Given the description of an element on the screen output the (x, y) to click on. 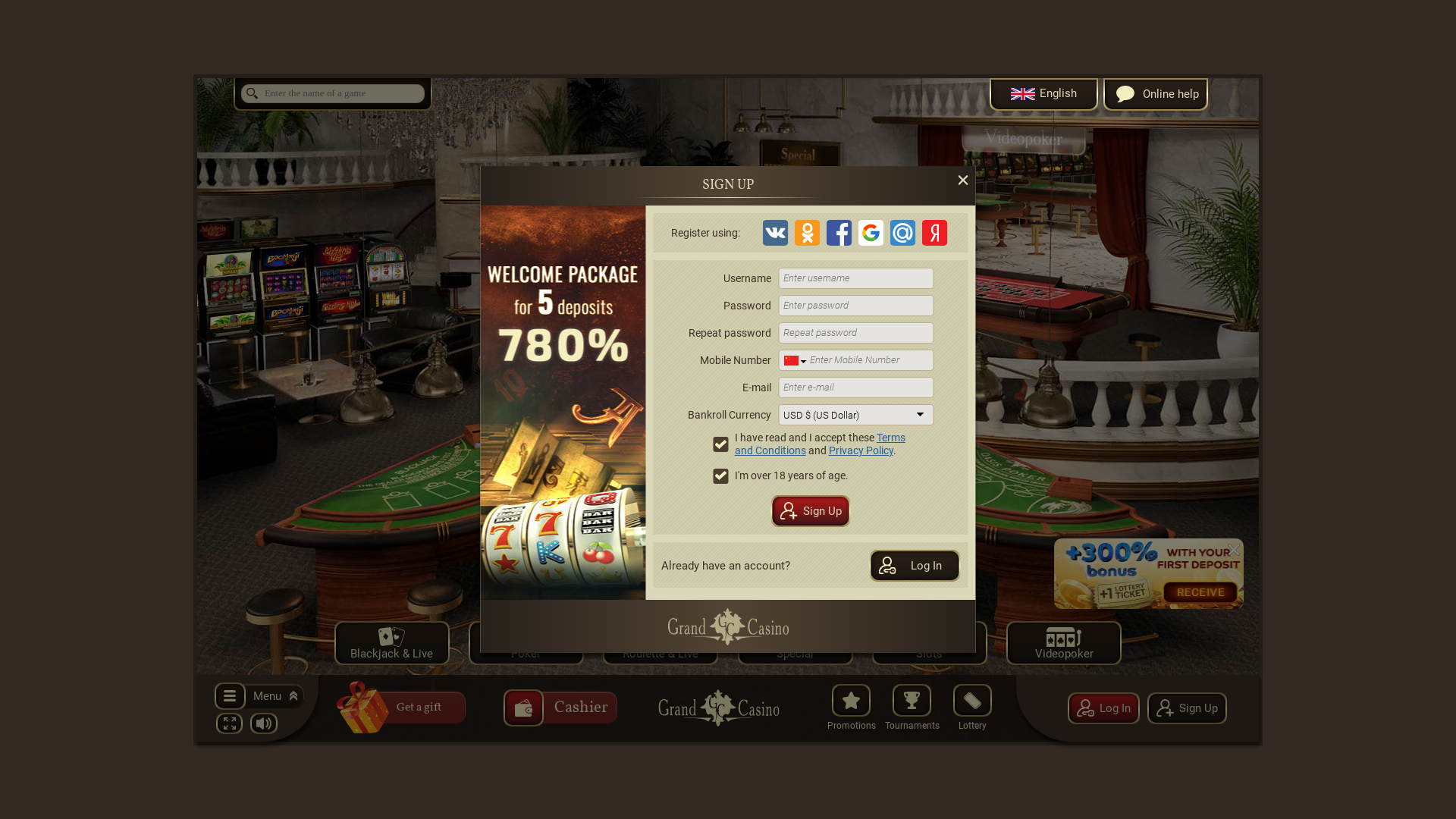
Online help Element type: text (1155, 93)
Special Element type: text (795, 642)
Blackjack & Live Element type: text (391, 642)
Slots Element type: text (929, 642)
Sign Up Element type: text (810, 511)
Sign Up Element type: text (1186, 707)
Log In Element type: text (914, 565)
Terms and Conditions Element type: text (819, 443)
Videopoker Element type: text (1063, 642)
Roulette & Live Element type: text (660, 642)
English Element type: text (1043, 93)
Privacy Policy Element type: text (860, 450)
Log In Element type: text (1103, 707)
Poker Element type: text (525, 642)
